Given the description of an element on the screen output the (x, y) to click on. 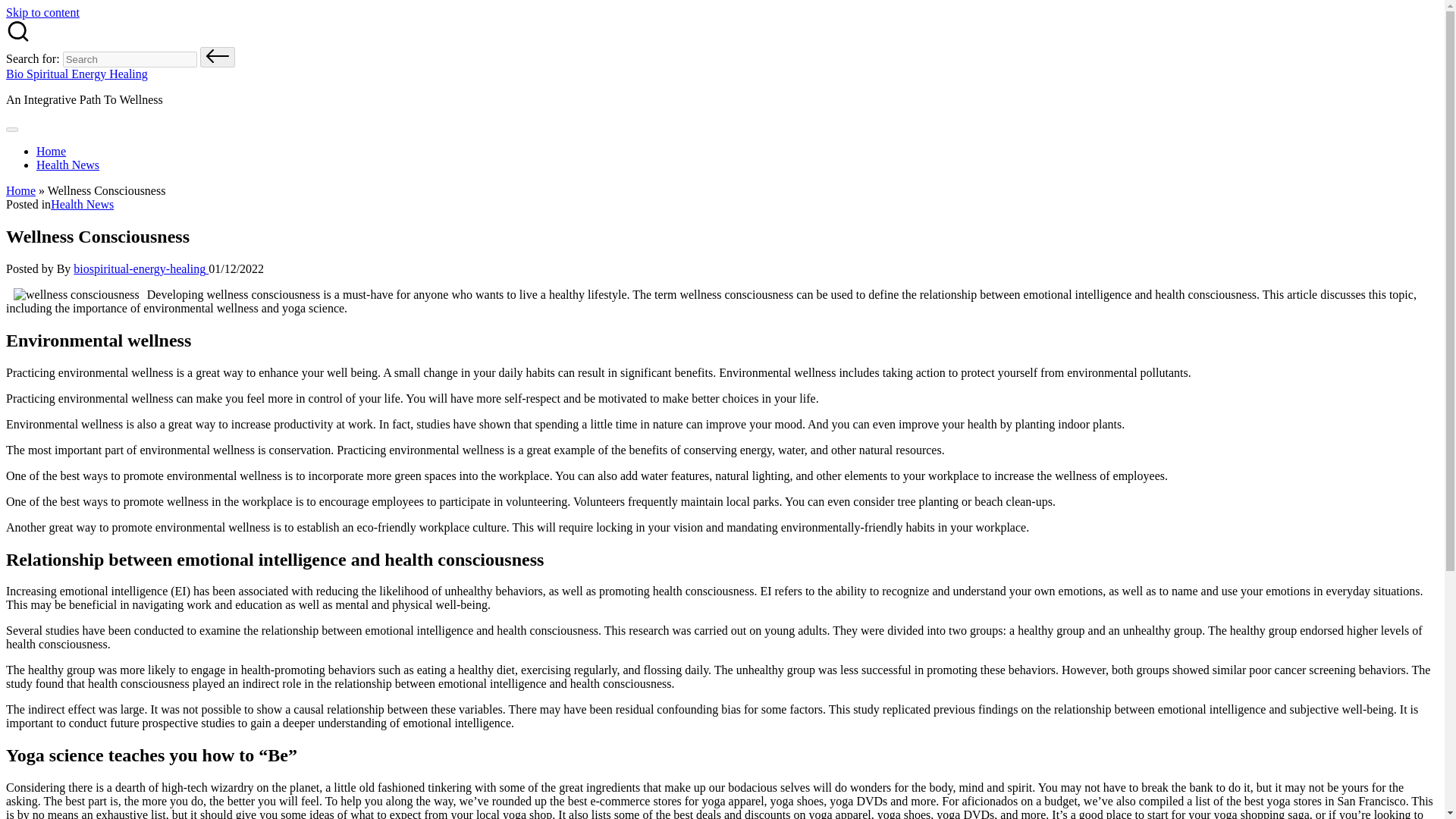
Health News (81, 204)
Bio Spiritual Energy Healing (76, 73)
Health News (67, 164)
Home (19, 190)
Home (50, 151)
Skip to content (42, 11)
biospiritual-energy-healing (141, 268)
View all posts by biospiritual-energy-healing (141, 268)
